Given the description of an element on the screen output the (x, y) to click on. 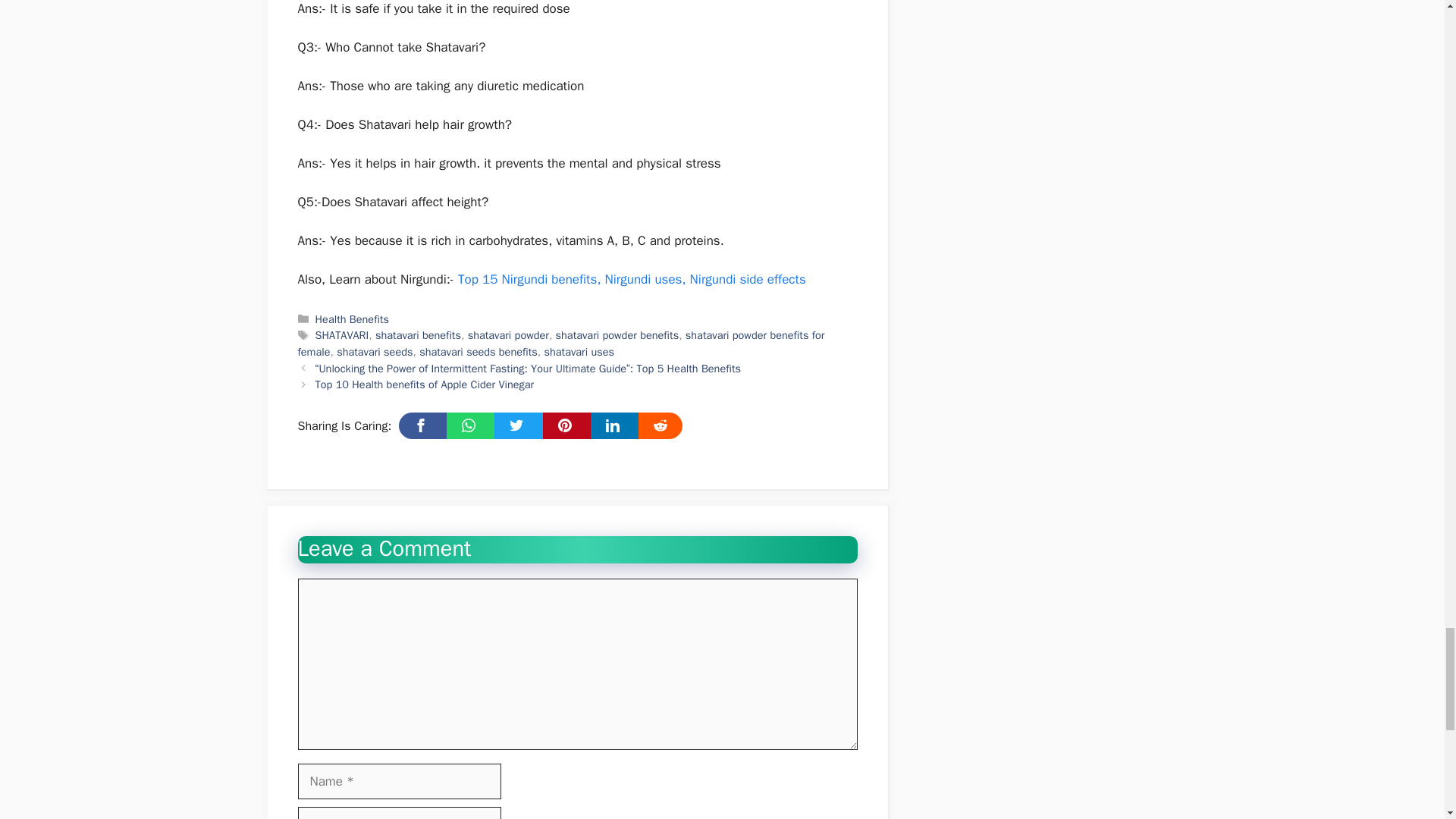
SHATAVARI (342, 335)
shatavari benefits (418, 335)
Health Benefits (351, 318)
